Given the description of an element on the screen output the (x, y) to click on. 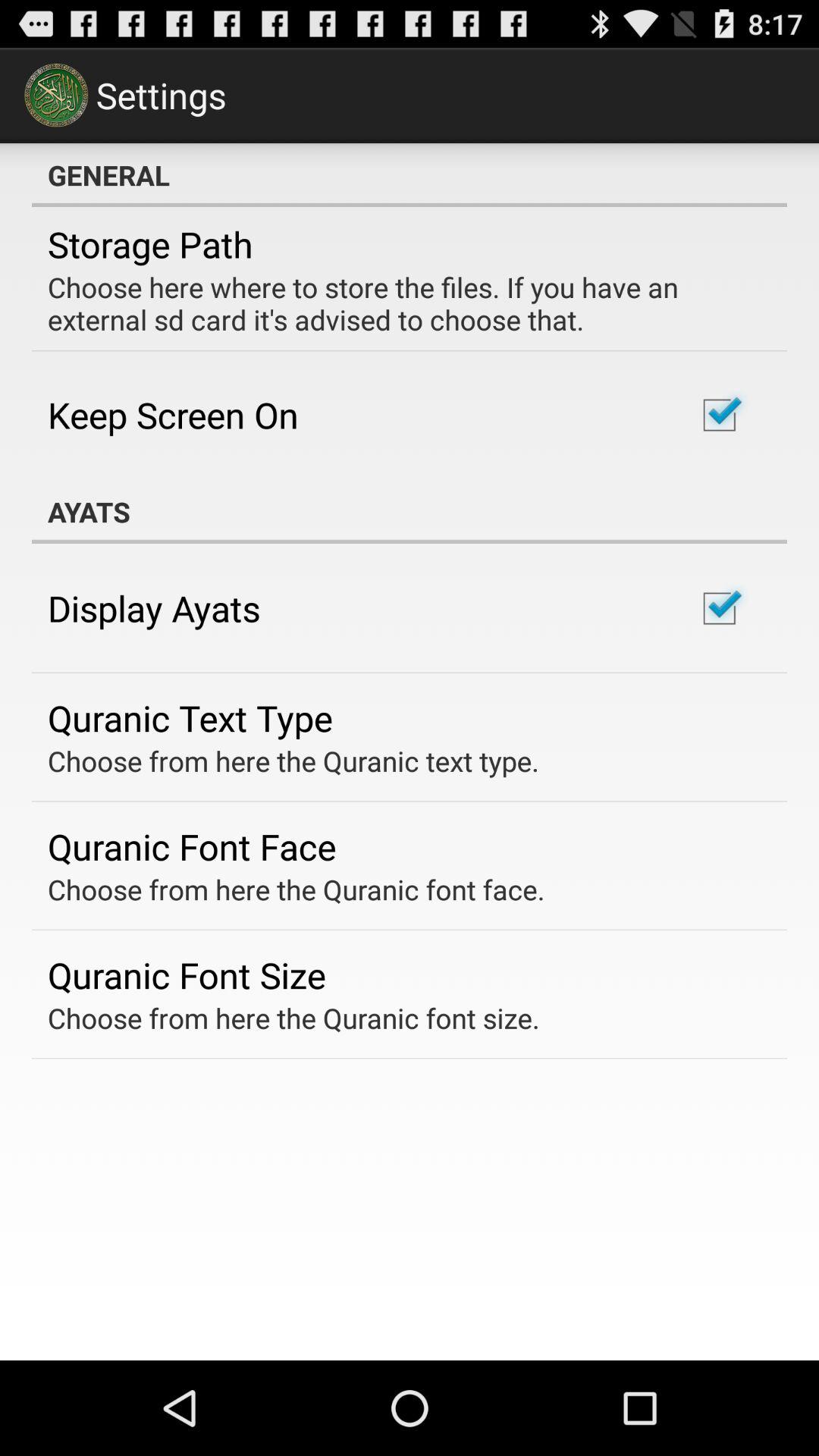
flip to the keep screen on (172, 414)
